Given the description of an element on the screen output the (x, y) to click on. 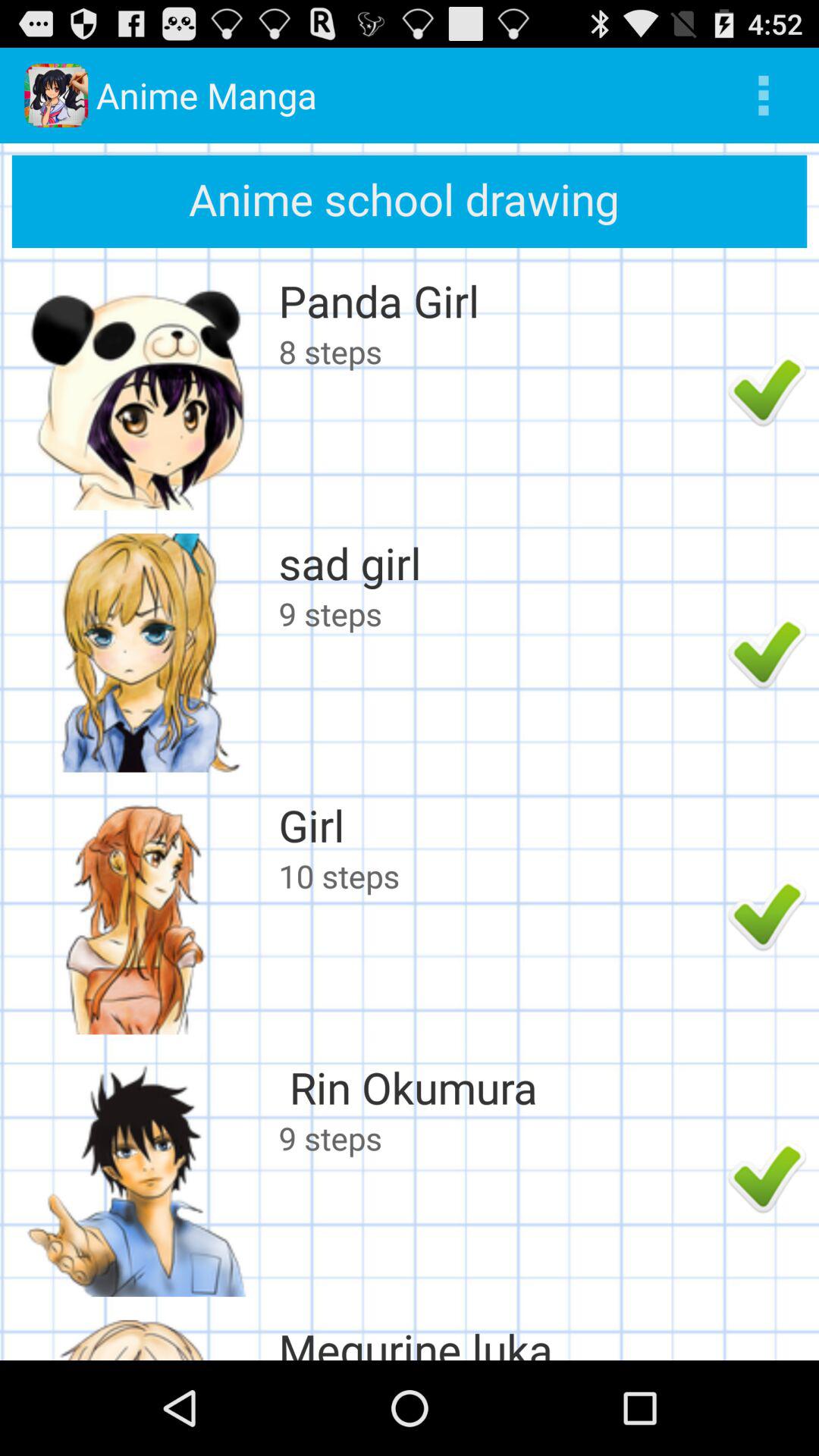
swipe to the sad girl (498, 562)
